Given the description of an element on the screen output the (x, y) to click on. 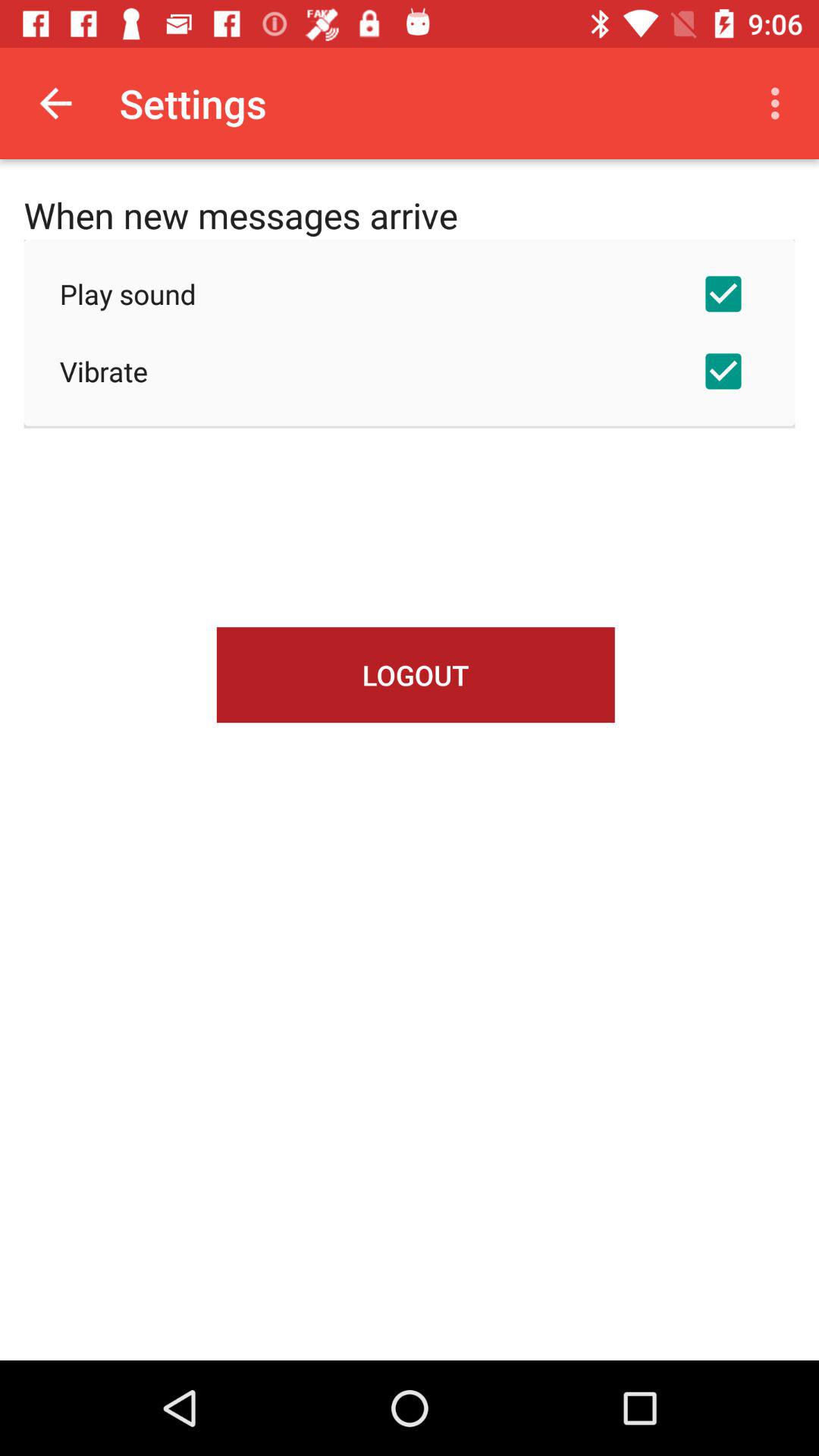
click icon next to the settings item (779, 103)
